Given the description of an element on the screen output the (x, y) to click on. 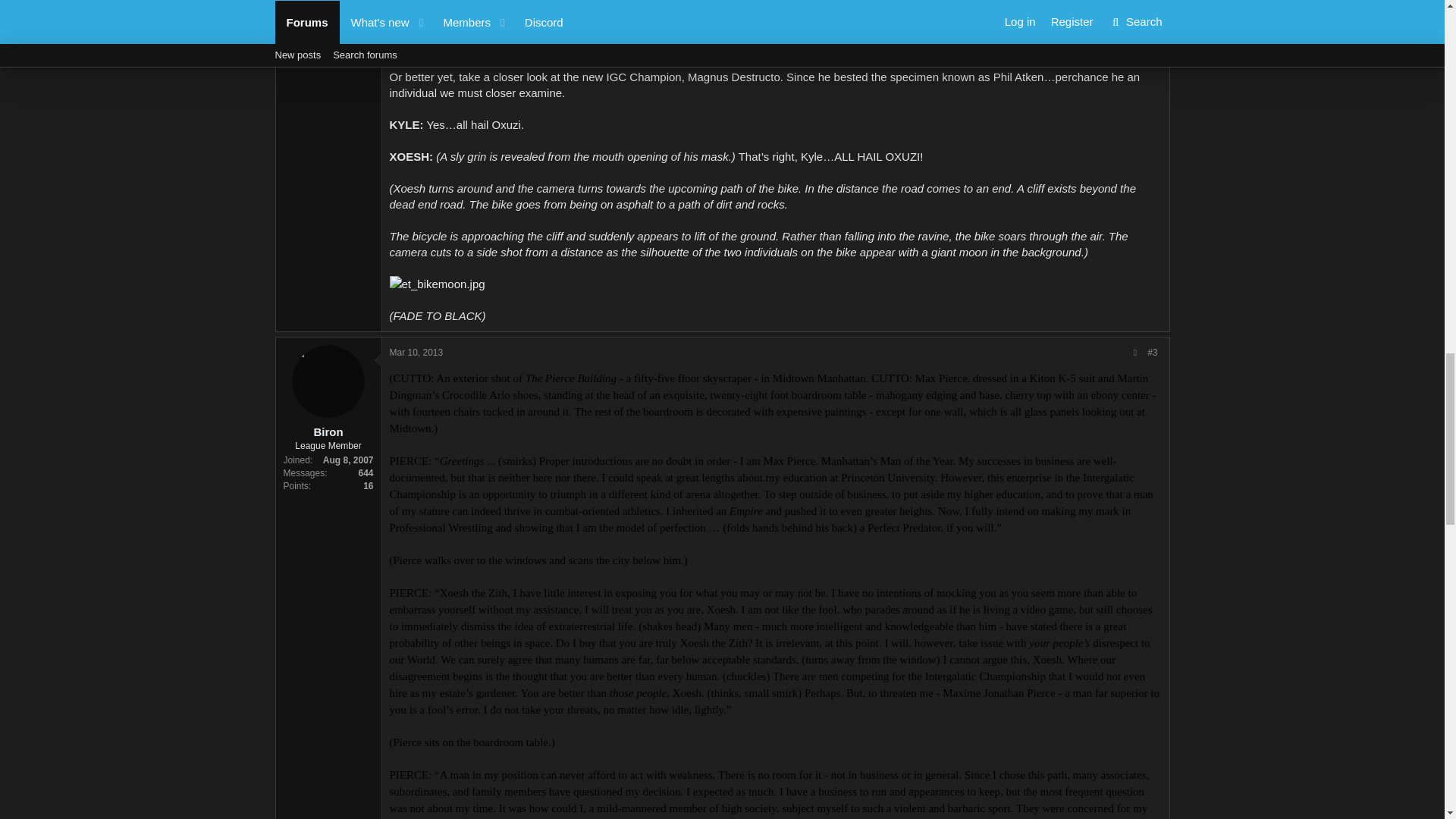
Mar 10, 2013 at 5:49 PM (417, 352)
